Given the description of an element on the screen output the (x, y) to click on. 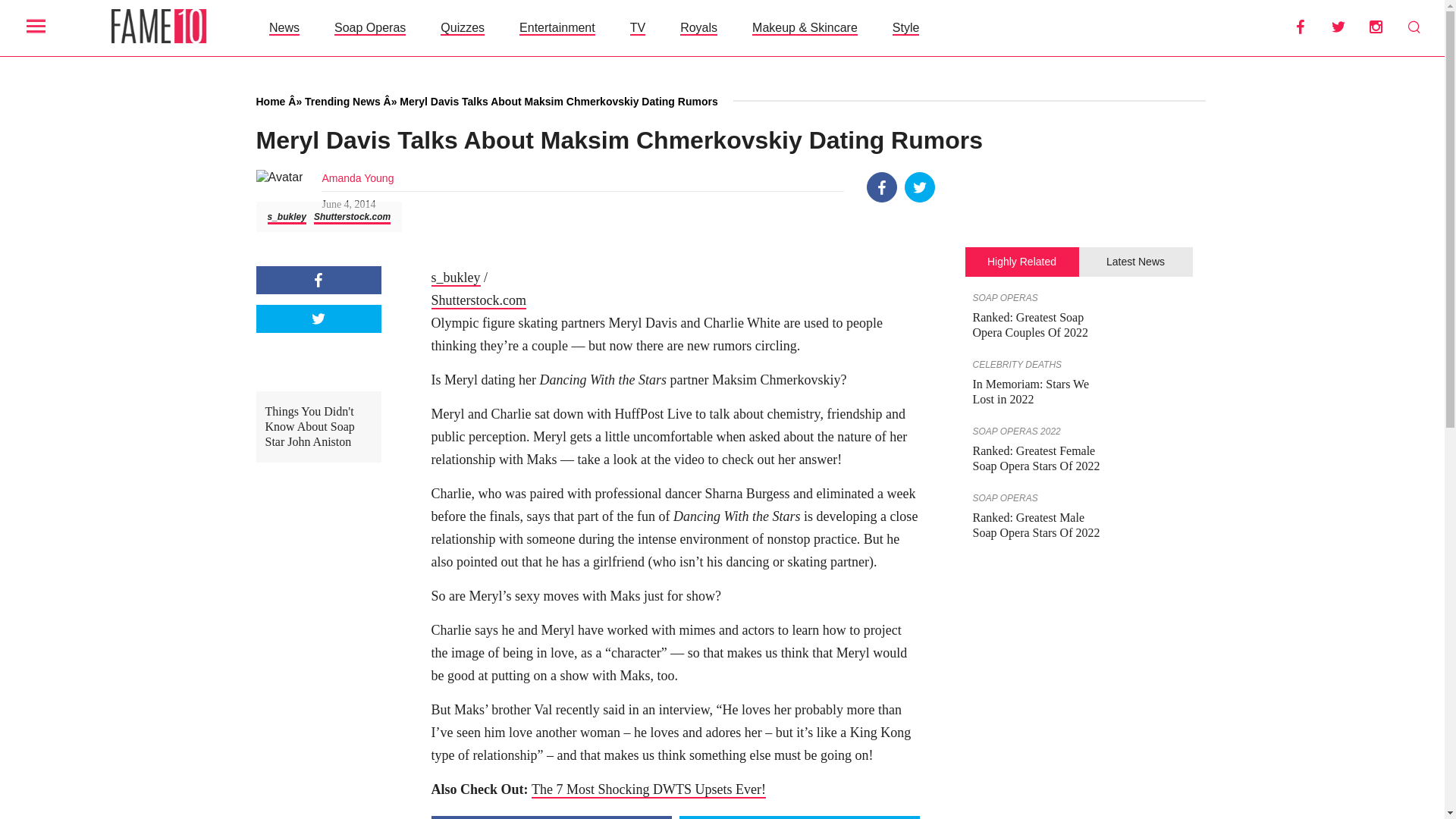
Soap Operas (370, 27)
Things You Didn't Know About Soap Star John Aniston (318, 426)
Facebook (318, 279)
Quizzes (462, 27)
Style (906, 27)
News (284, 27)
Shutterstock.com (352, 217)
Twitter (919, 186)
Facebook (1299, 26)
TV (637, 27)
